Given the description of an element on the screen output the (x, y) to click on. 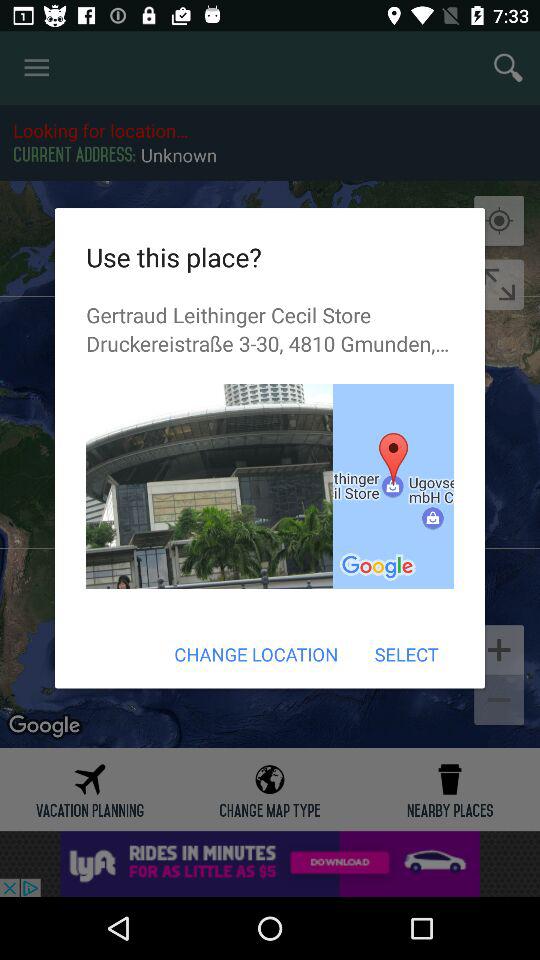
choose the item at the bottom right corner (406, 654)
